Given the description of an element on the screen output the (x, y) to click on. 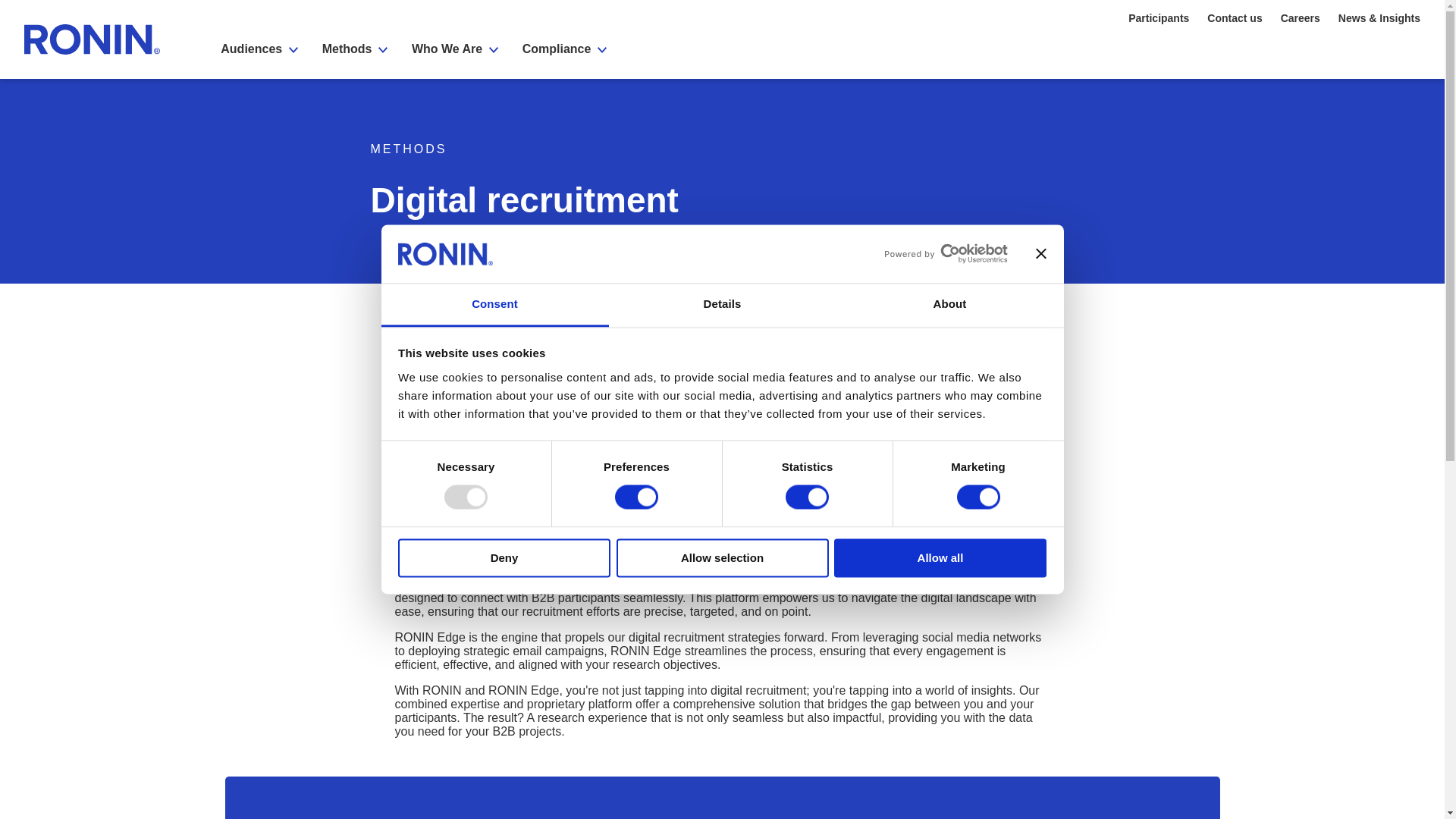
Details (721, 304)
Allow all (940, 557)
RONIN Edge (866, 570)
Deny (503, 557)
About (948, 304)
Allow selection (721, 557)
Consent (494, 304)
